Given the description of an element on the screen output the (x, y) to click on. 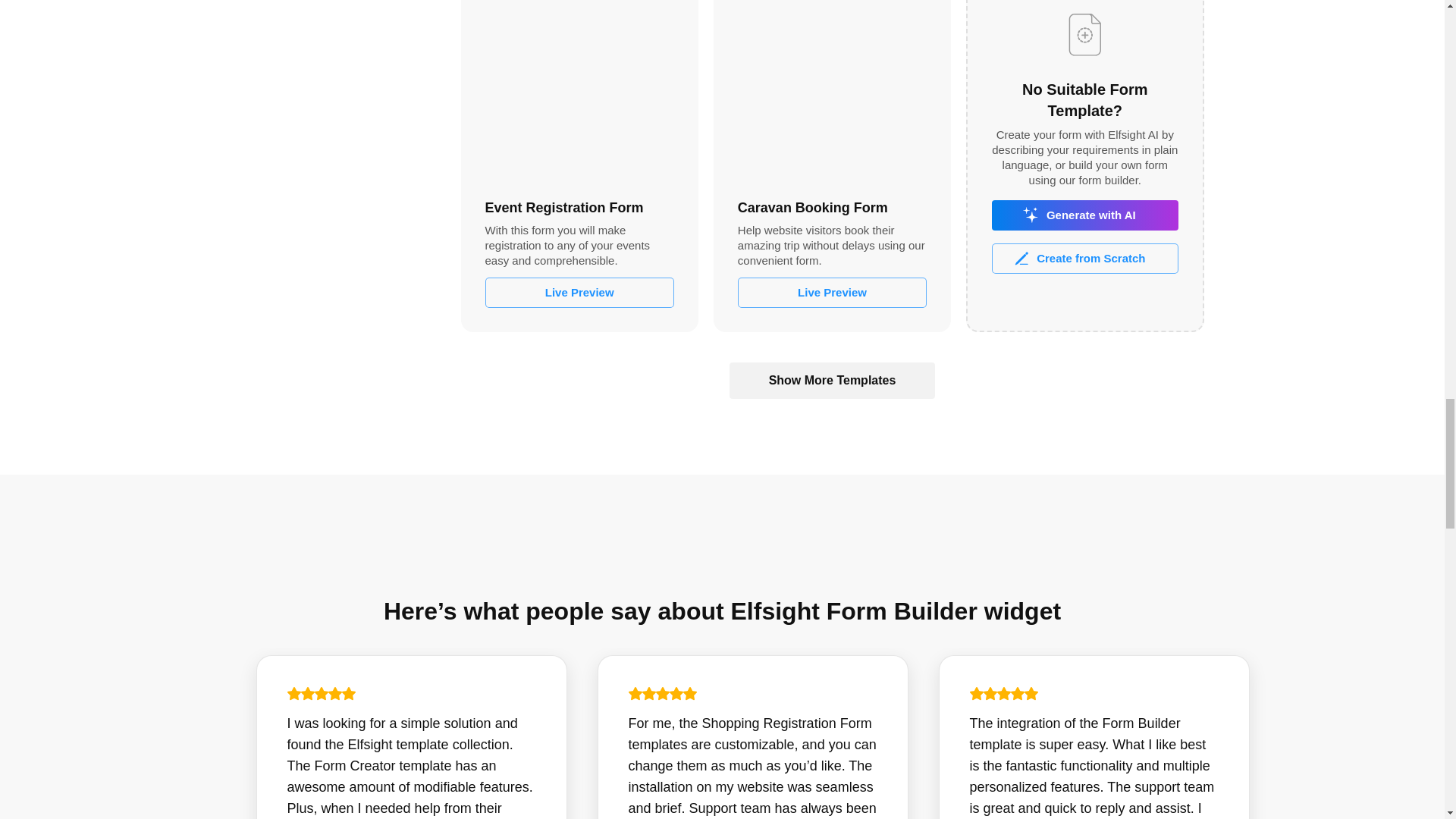
Event Registration Form (579, 91)
Caravan Booking Form (832, 91)
